Given the description of an element on the screen output the (x, y) to click on. 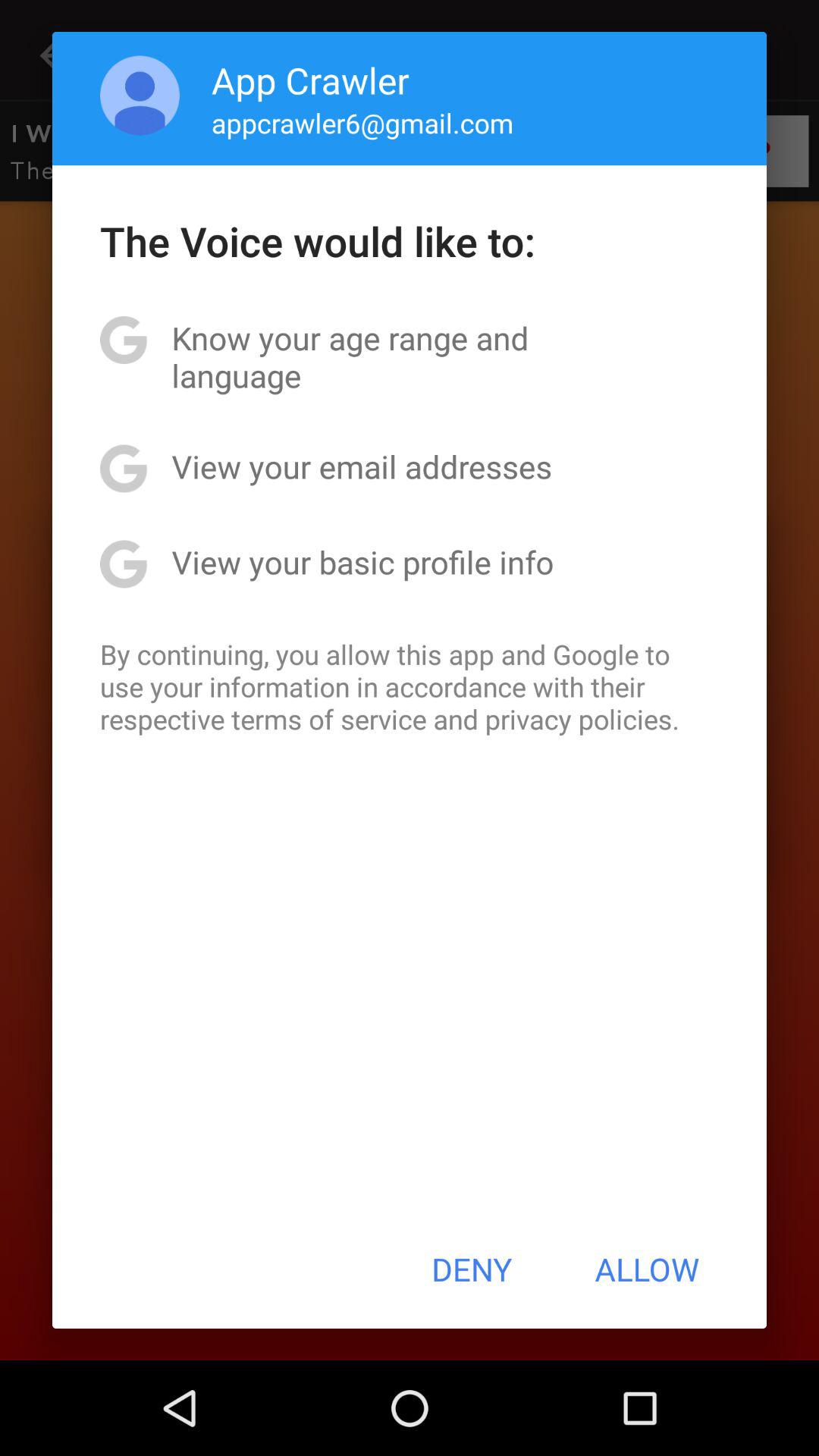
choose the item next to app crawler app (139, 95)
